Given the description of an element on the screen output the (x, y) to click on. 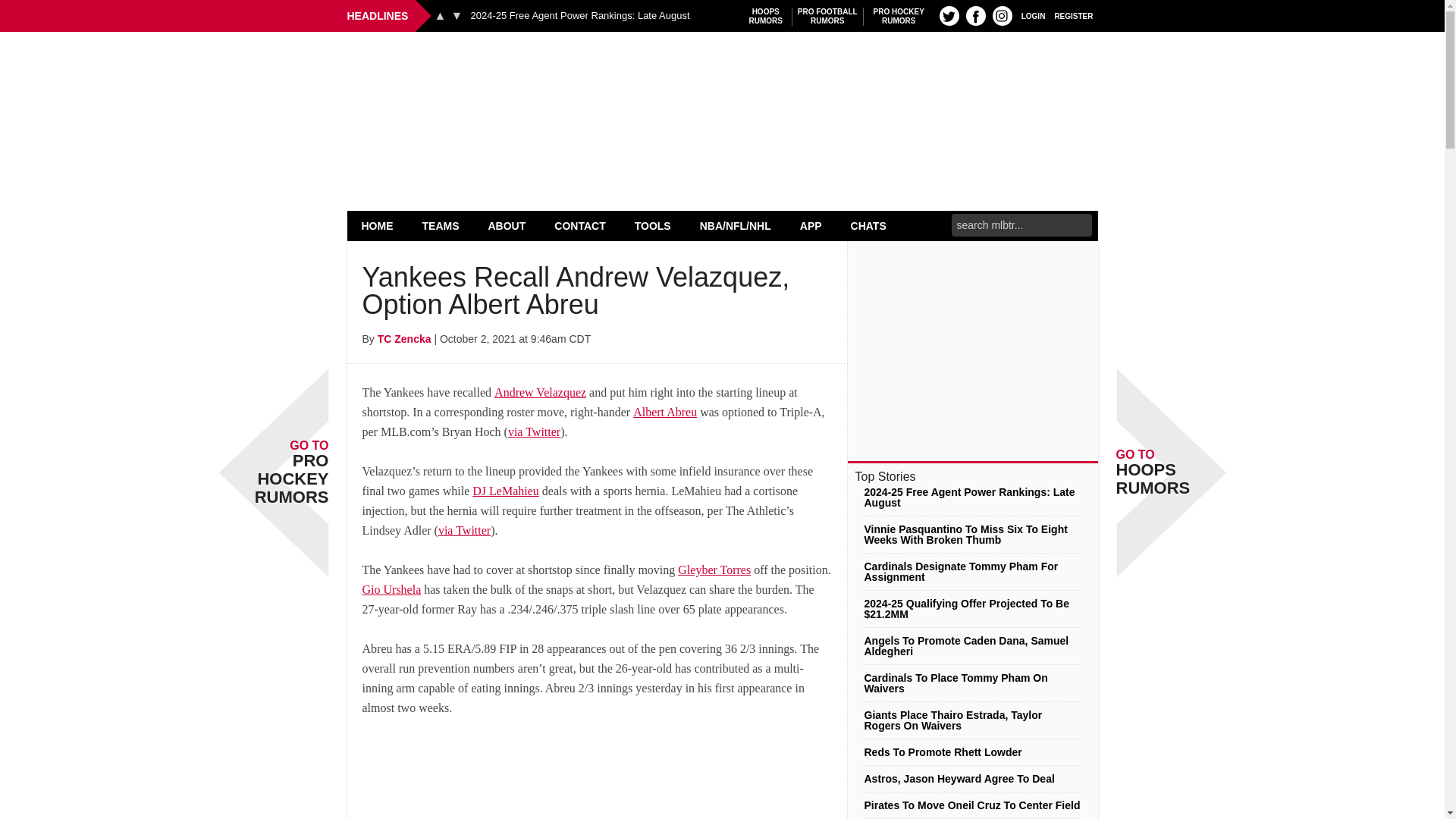
MLB Trade Rumors (722, 69)
TEAMS (440, 225)
Instagram profile (1001, 15)
LOGIN (1032, 15)
2024-25 Free Agent Power Rankings: Late August (827, 16)
HOME (579, 15)
Twitter profile (898, 16)
REGISTER (377, 225)
